Given the description of an element on the screen output the (x, y) to click on. 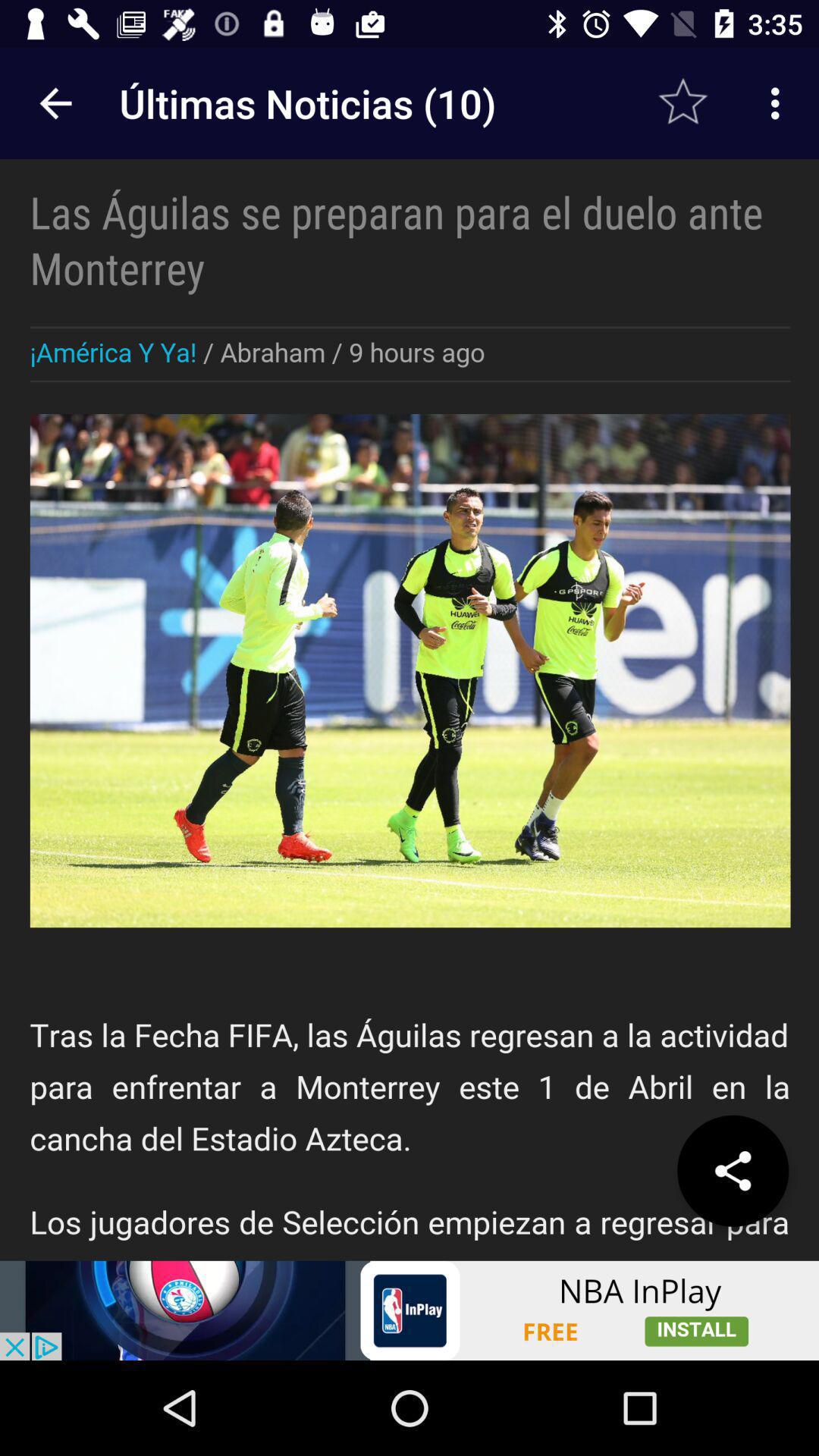
share (733, 1171)
